Given the description of an element on the screen output the (x, y) to click on. 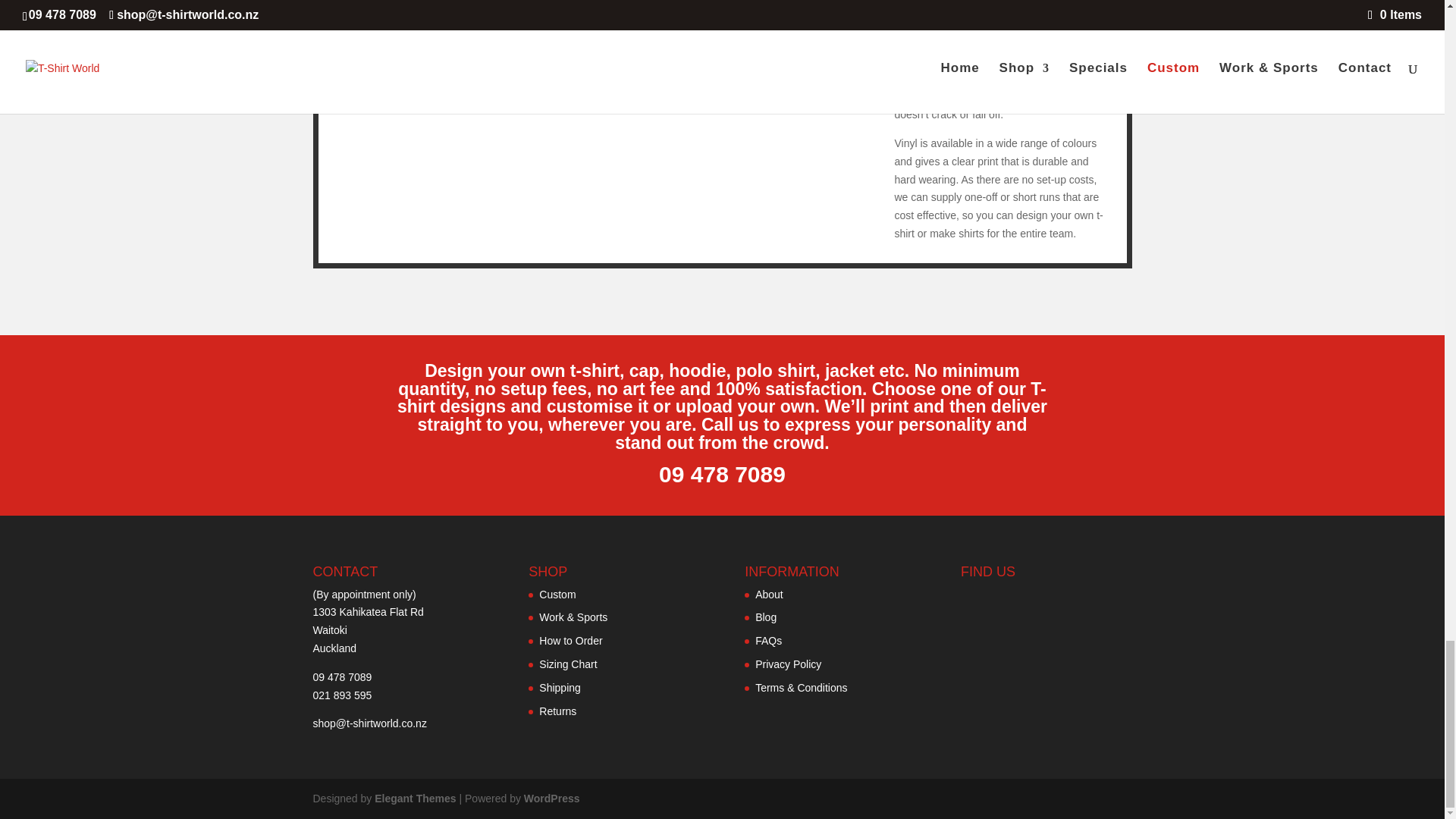
021 893 595 (342, 695)
Sizing Chart (567, 664)
How to Order (570, 640)
Premium WordPress Themes (414, 798)
09 478 7089 (342, 676)
Shipping (559, 687)
Custom (556, 594)
